Given the description of an element on the screen output the (x, y) to click on. 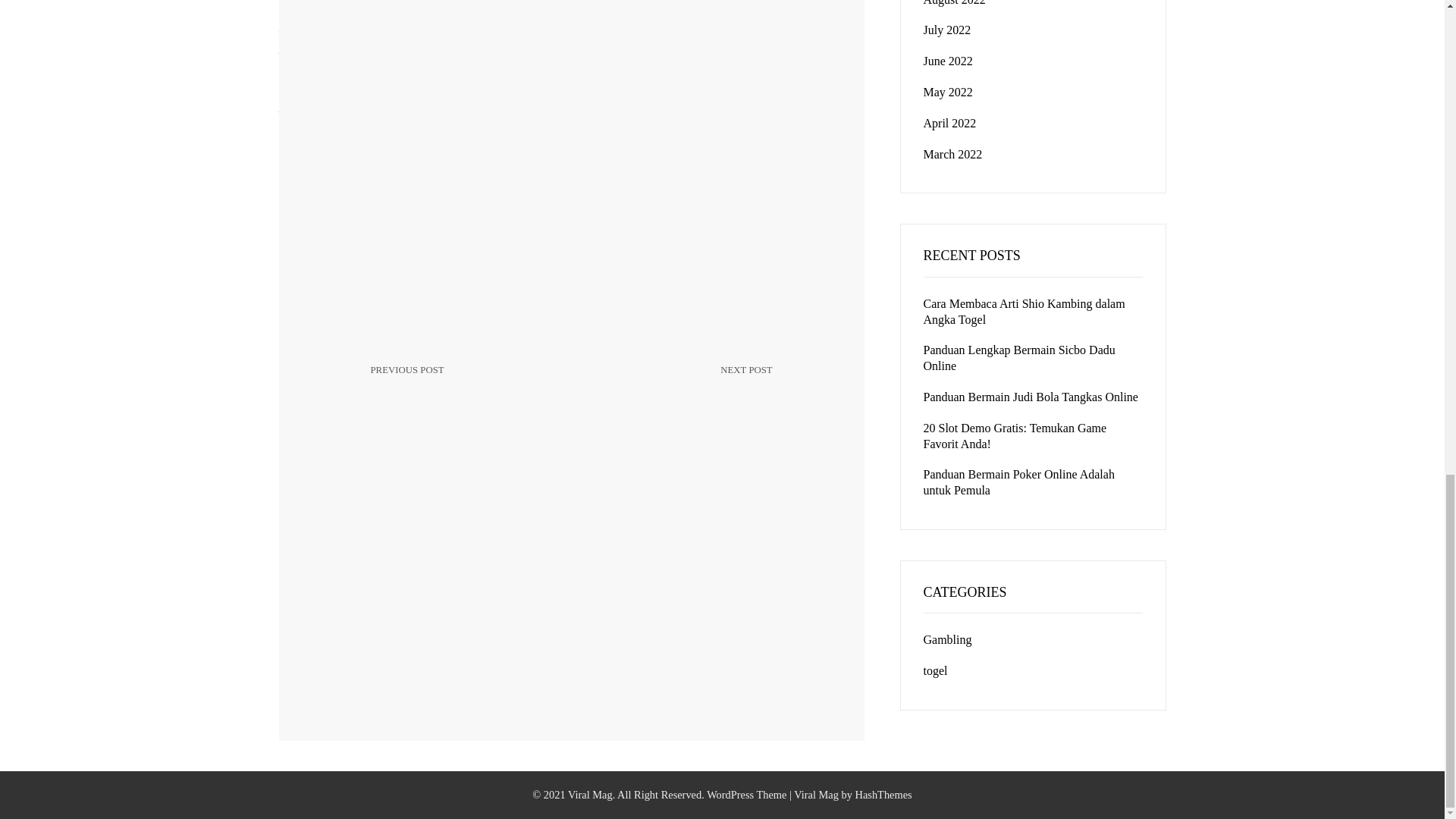
June 2022 (947, 60)
August 2022 (954, 2)
July 2022 (680, 391)
Download Viral News (462, 381)
